Given the description of an element on the screen output the (x, y) to click on. 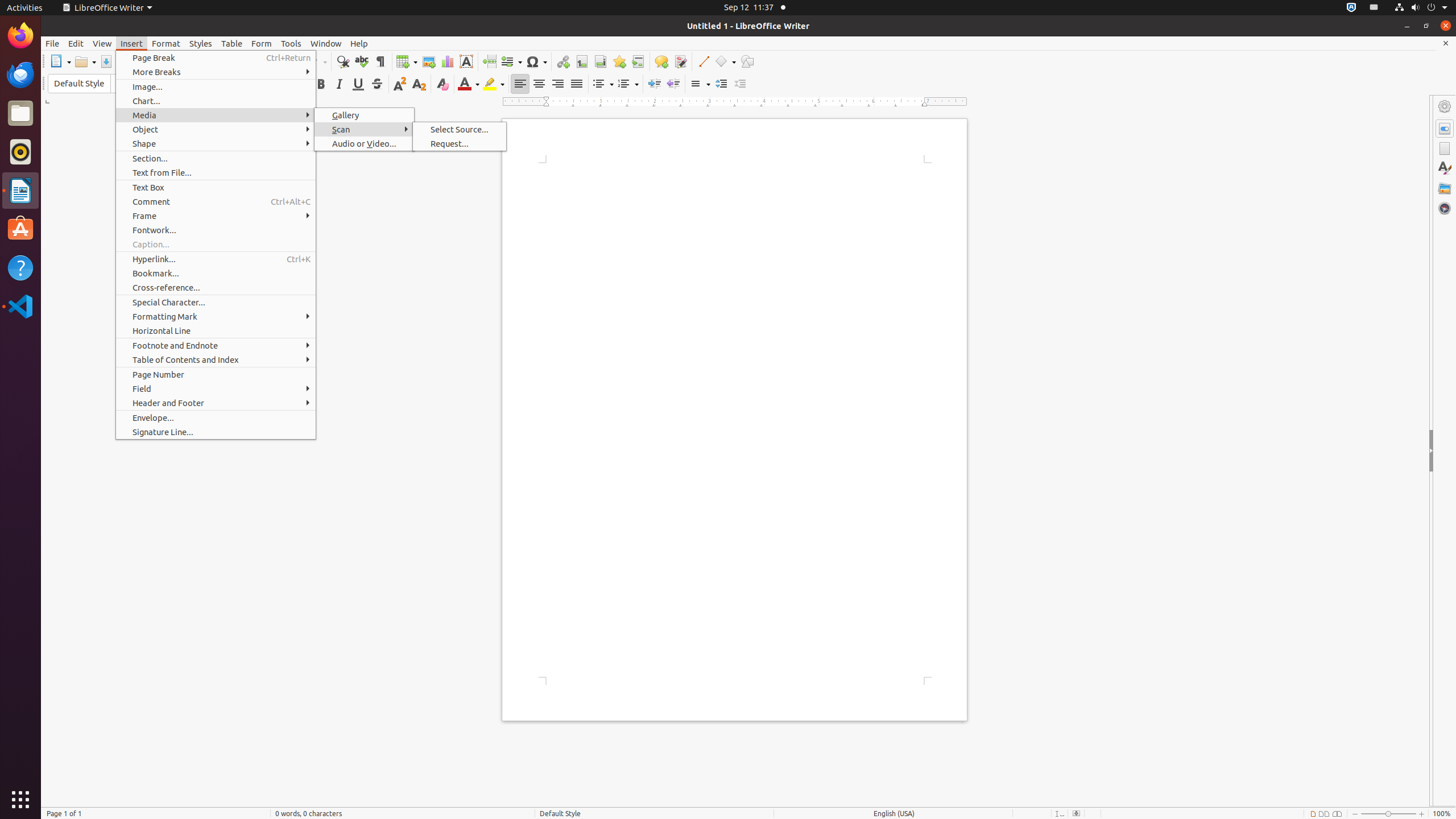
Increase Element type: push-button (721, 83)
Clear Element type: push-button (441, 83)
Signature Line... Element type: menu-item (215, 431)
Field Element type: push-button (510, 61)
System Element type: menu (1420, 7)
